Given the description of an element on the screen output the (x, y) to click on. 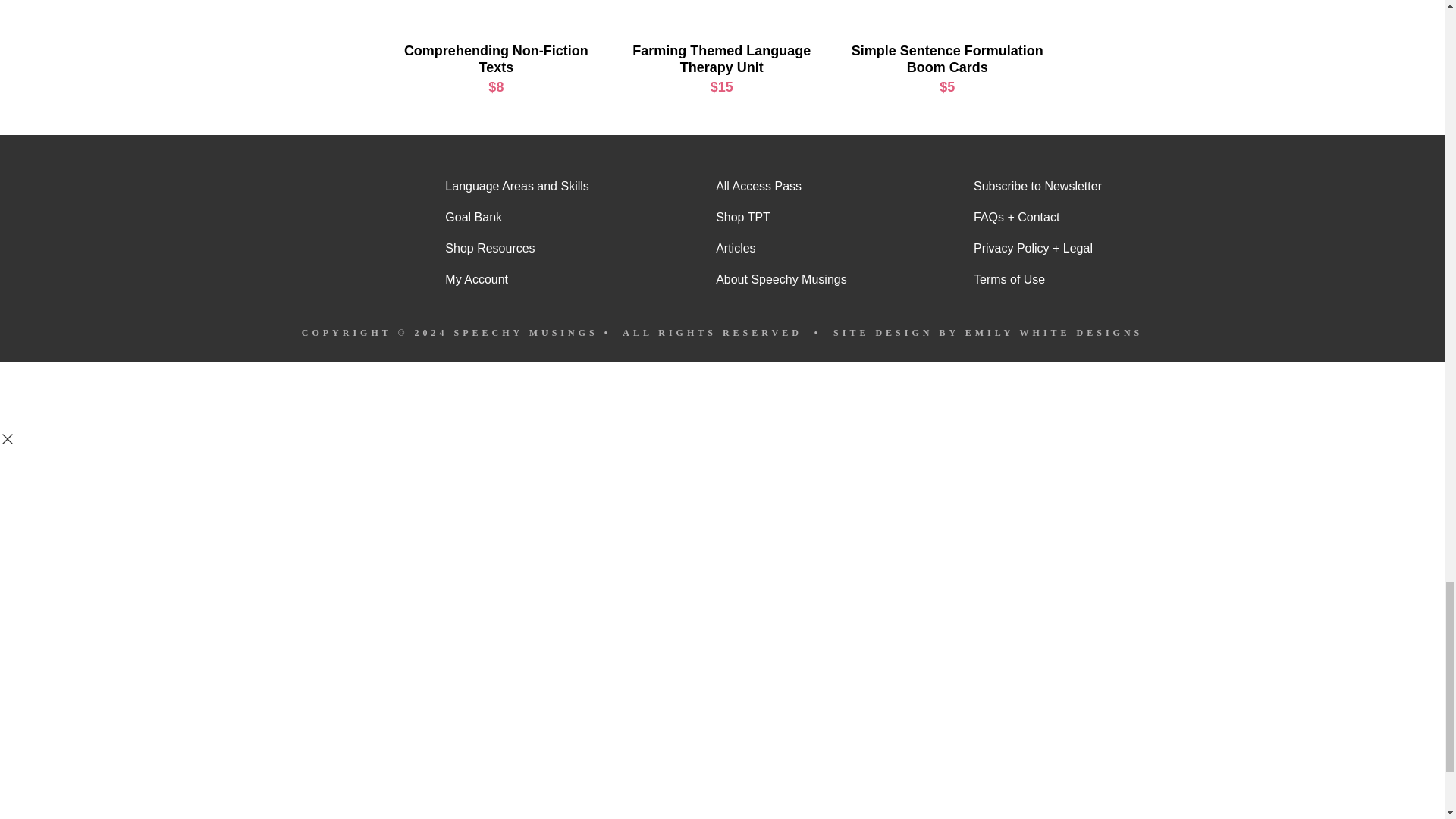
Shop TPT (781, 217)
Subscribe to Newsletter (1038, 186)
EMILY WHITE DESIGNS (1053, 332)
Goal Bank (516, 217)
Language Areas and Skills (516, 186)
My Account (516, 279)
Articles (781, 248)
Shop Resources (516, 248)
About Speechy Musings (781, 279)
Terms of Use (1038, 279)
